Given the description of an element on the screen output the (x, y) to click on. 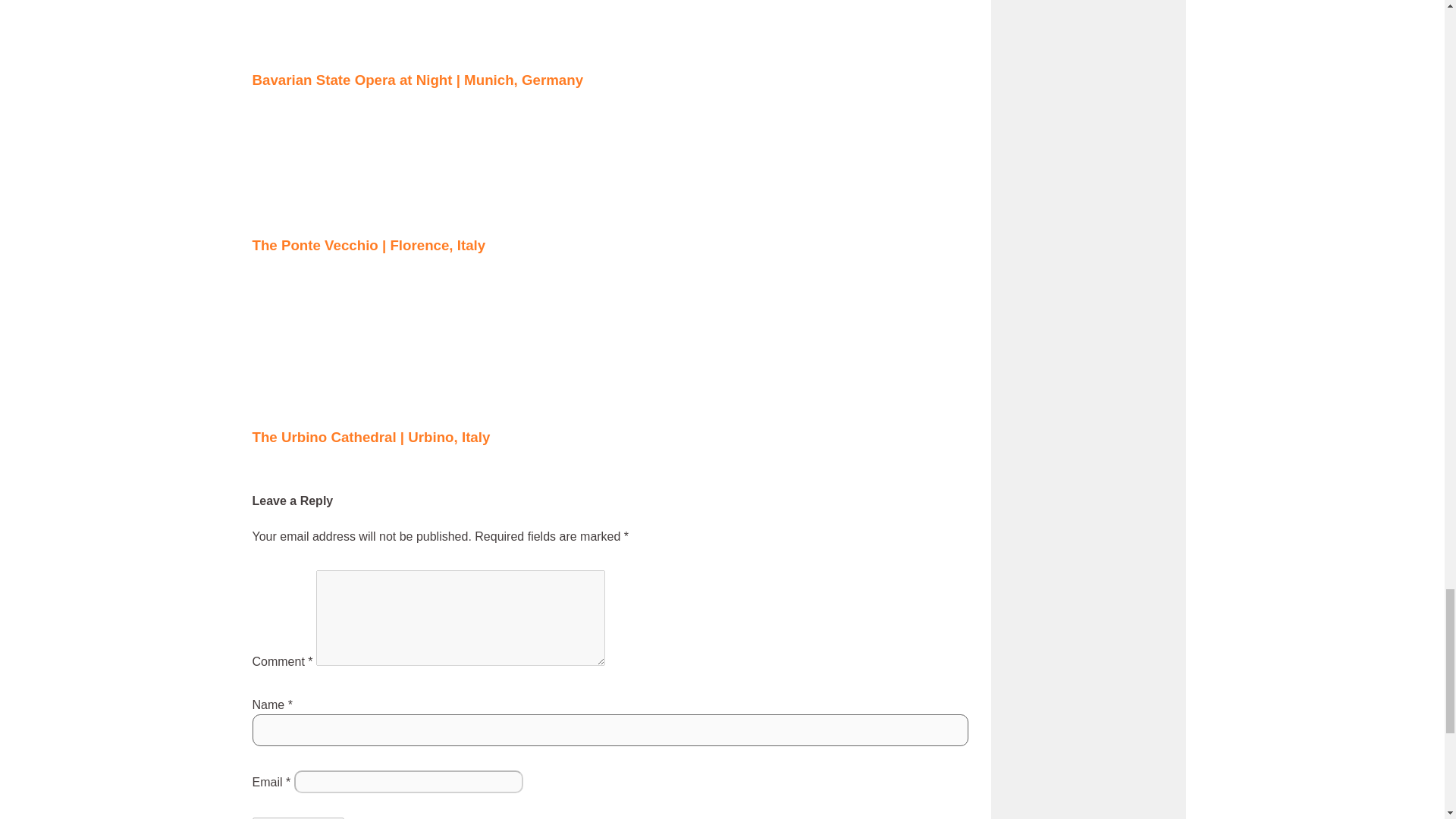
Post Comment (297, 818)
